Given the description of an element on the screen output the (x, y) to click on. 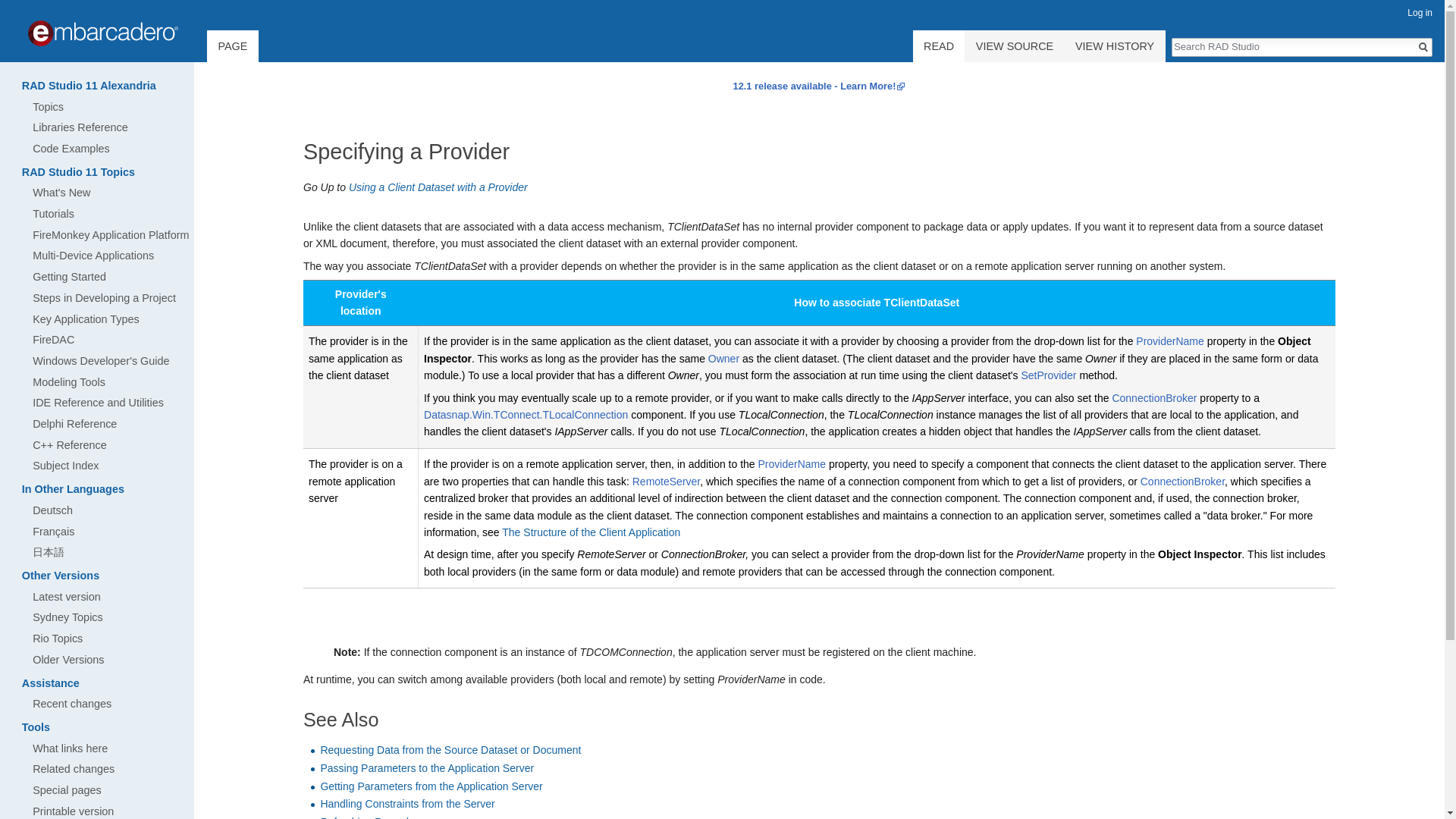
Log in (1419, 12)
ConnectionBroker (1182, 481)
Refreshing Records (366, 817)
VIEW SOURCE (1013, 46)
Search (1423, 46)
12.1 release available - Learn More! (819, 85)
Passing Parameters to the Application Server (427, 767)
ProviderName (1169, 340)
VIEW HISTORY (1115, 46)
lib en:Datasnap.DBClient.TCustomClientDataSet.SetProvider (1047, 375)
